Given the description of an element on the screen output the (x, y) to click on. 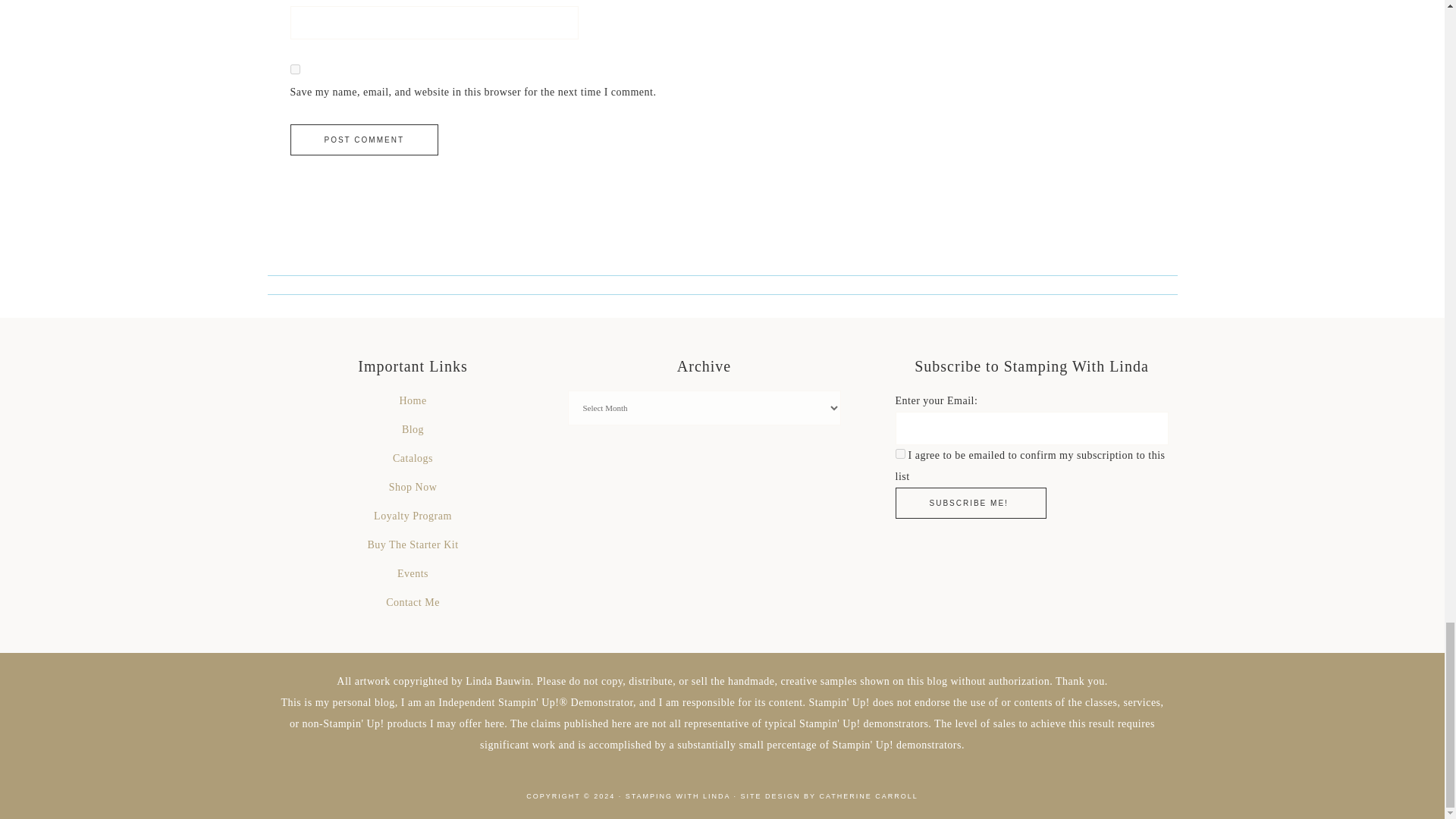
Subscribe me!  (970, 502)
on (899, 453)
yes (294, 69)
Post Comment (363, 139)
